Given the description of an element on the screen output the (x, y) to click on. 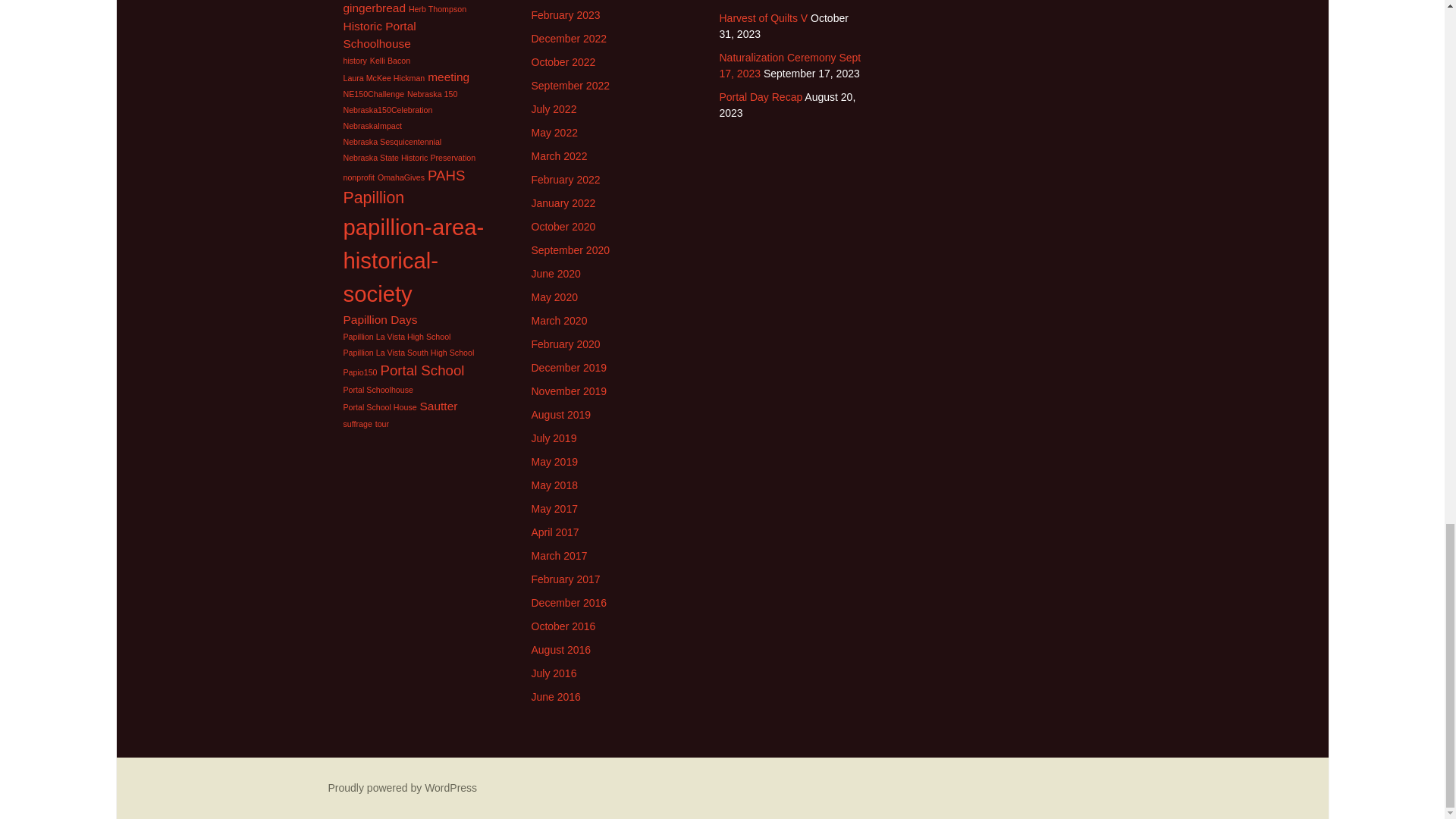
September 2022 (570, 85)
February 2023 (565, 15)
July 2022 (553, 109)
October 2022 (563, 61)
December 2022 (569, 38)
